Given the description of an element on the screen output the (x, y) to click on. 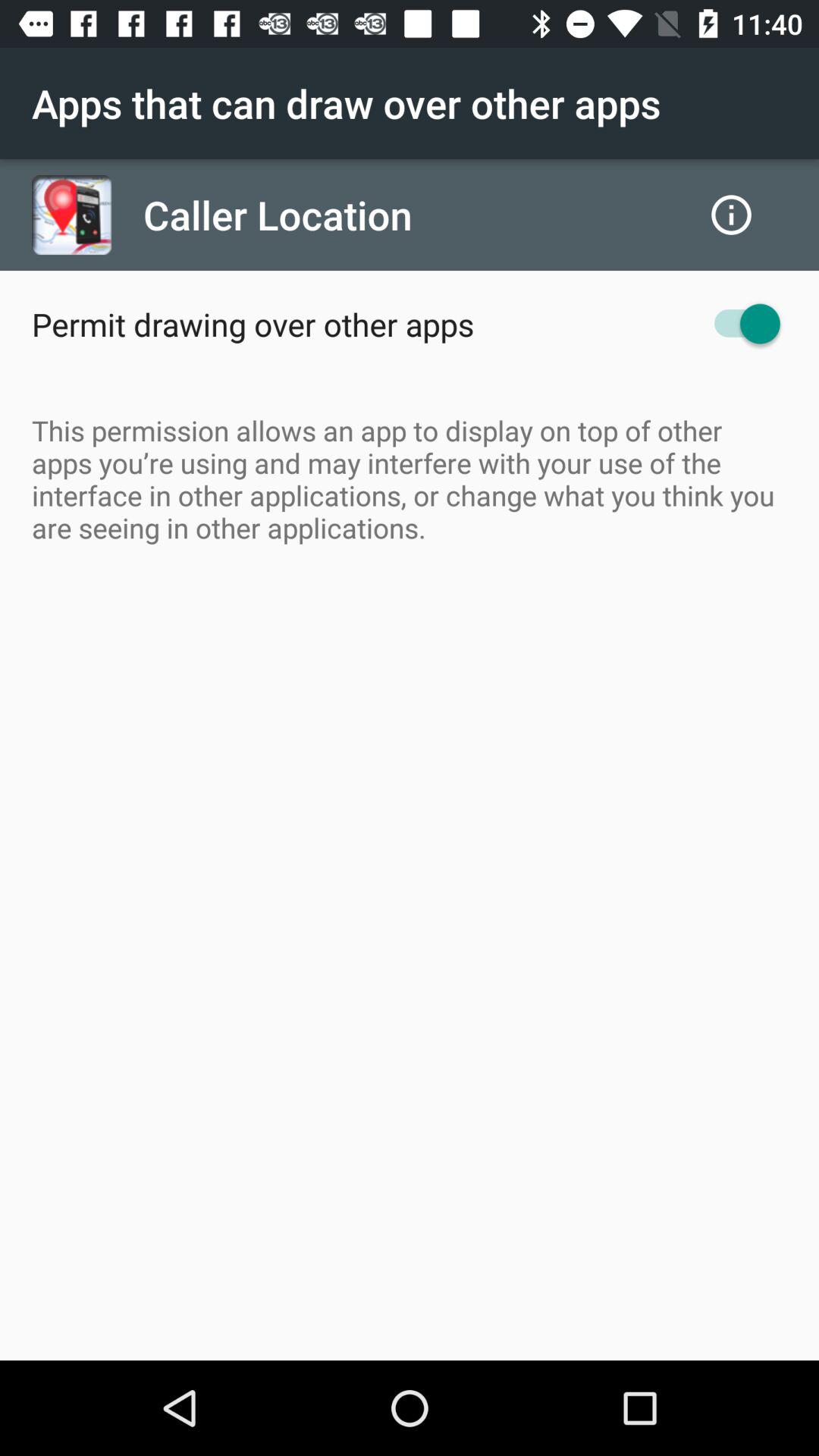
choose app next to the permit drawing over item (739, 323)
